Given the description of an element on the screen output the (x, y) to click on. 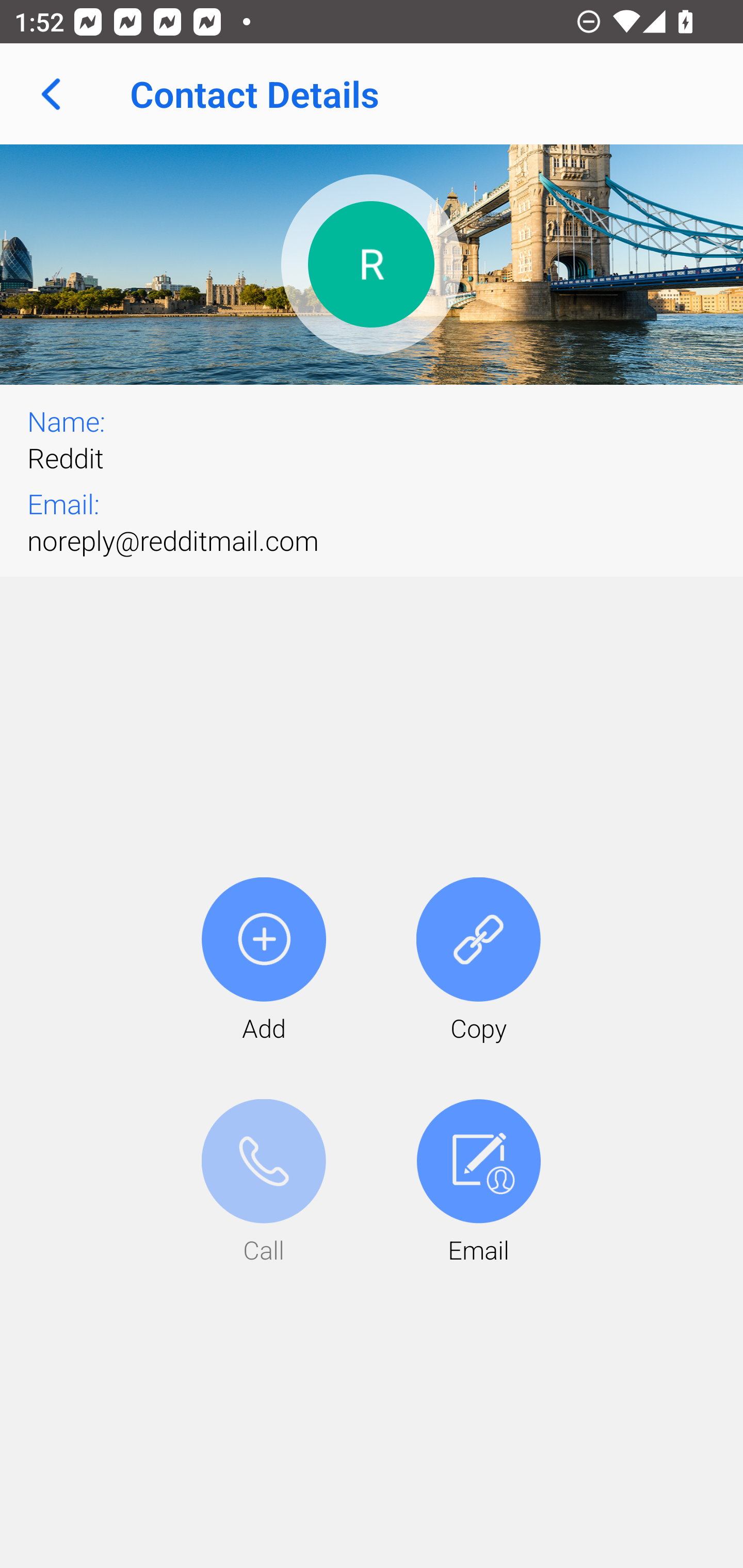
Navigate up (50, 93)
Add (264, 961)
Copy (478, 961)
Call (264, 1182)
Email (478, 1182)
